Given the description of an element on the screen output the (x, y) to click on. 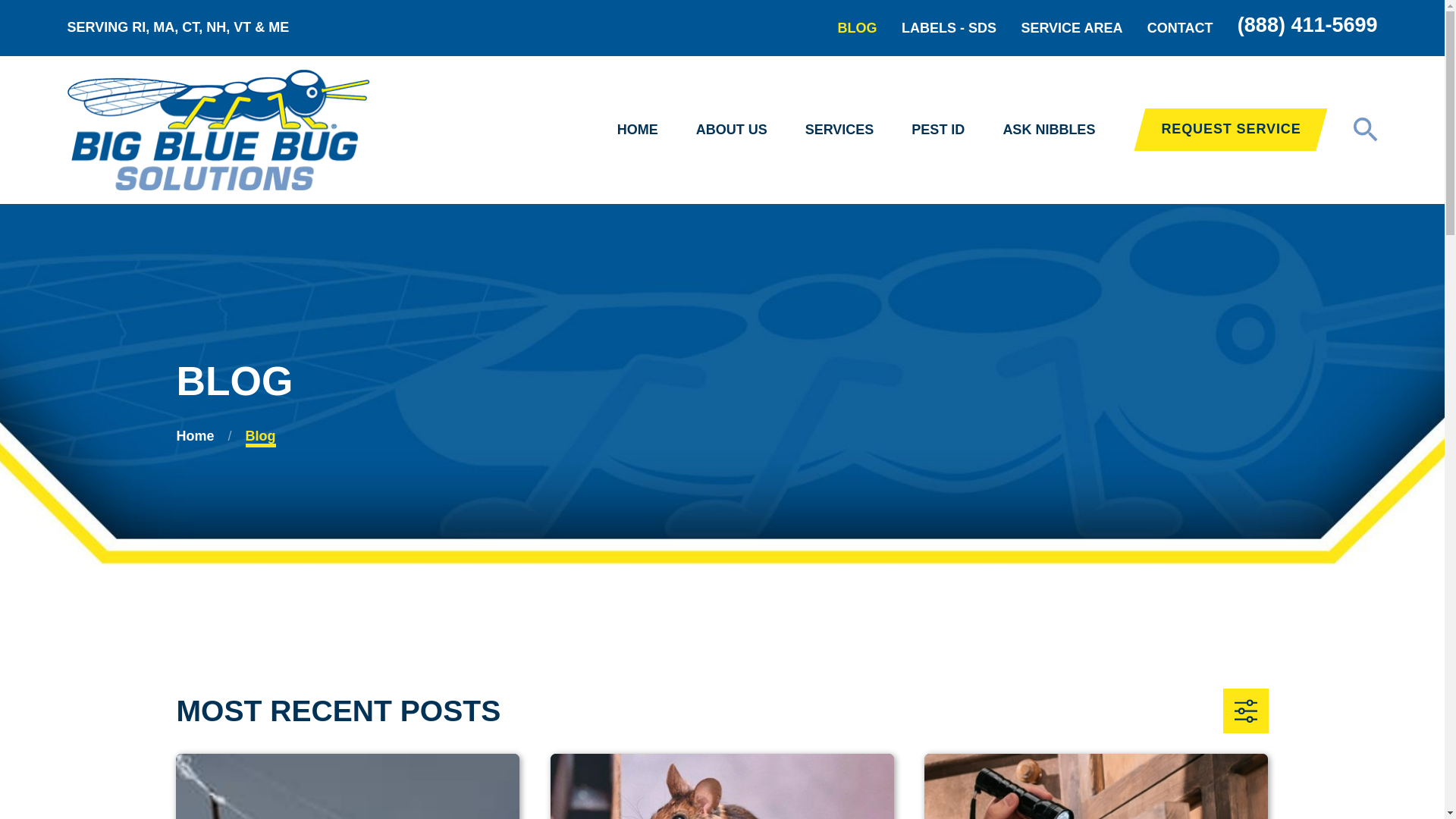
BLOG (857, 28)
LABELS - SDS (948, 28)
Blog Menu (1245, 710)
Go Home (195, 435)
CONTACT (1179, 28)
Home (217, 129)
SERVICE AREA (1071, 28)
SERVICES (840, 129)
ABOUT US (731, 129)
PEST ID (937, 129)
